Given the description of an element on the screen output the (x, y) to click on. 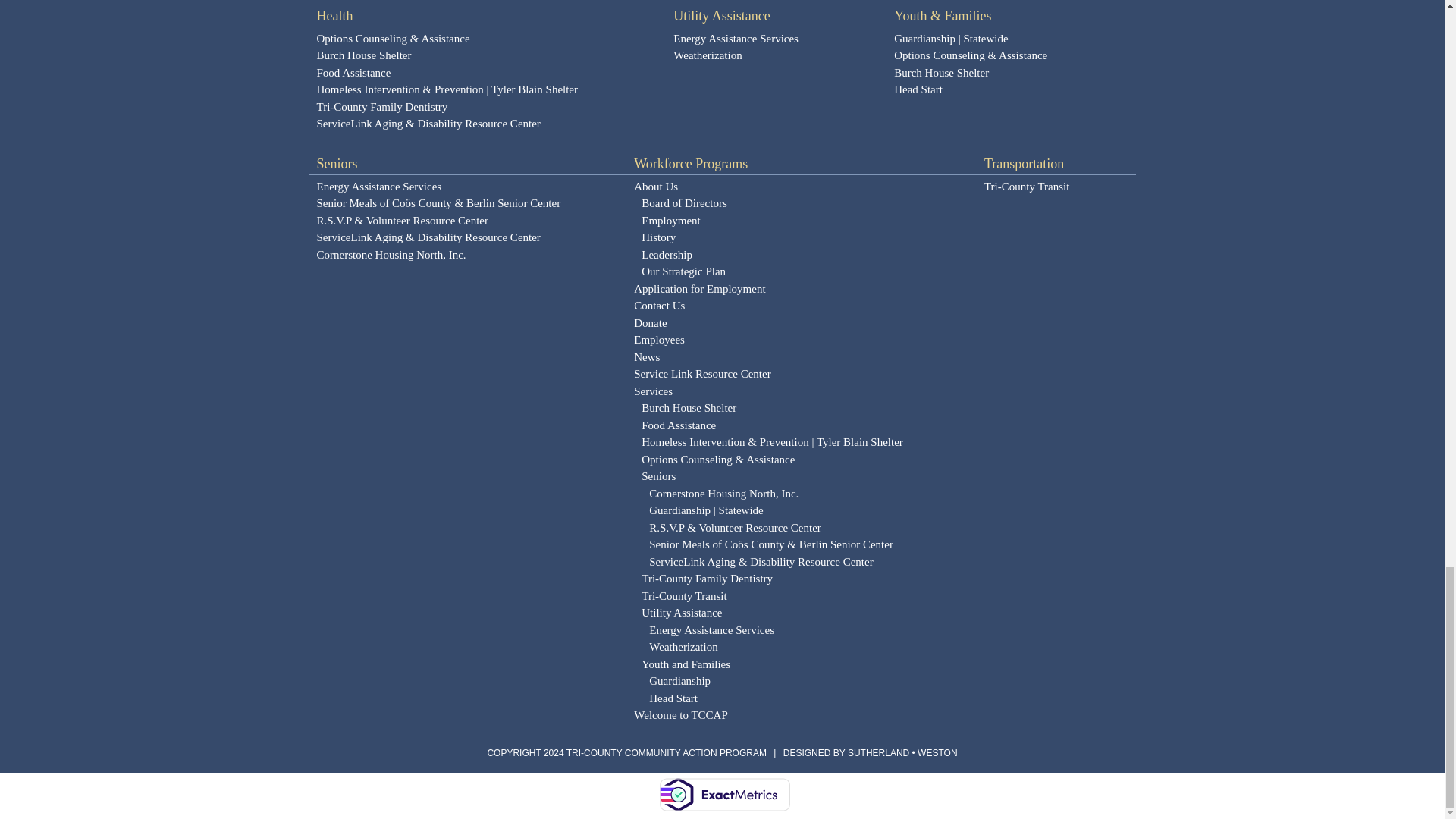
Burch House Shelter (488, 56)
Food Assistance (488, 72)
Verified by ExactMetrics (722, 794)
